Given the description of an element on the screen output the (x, y) to click on. 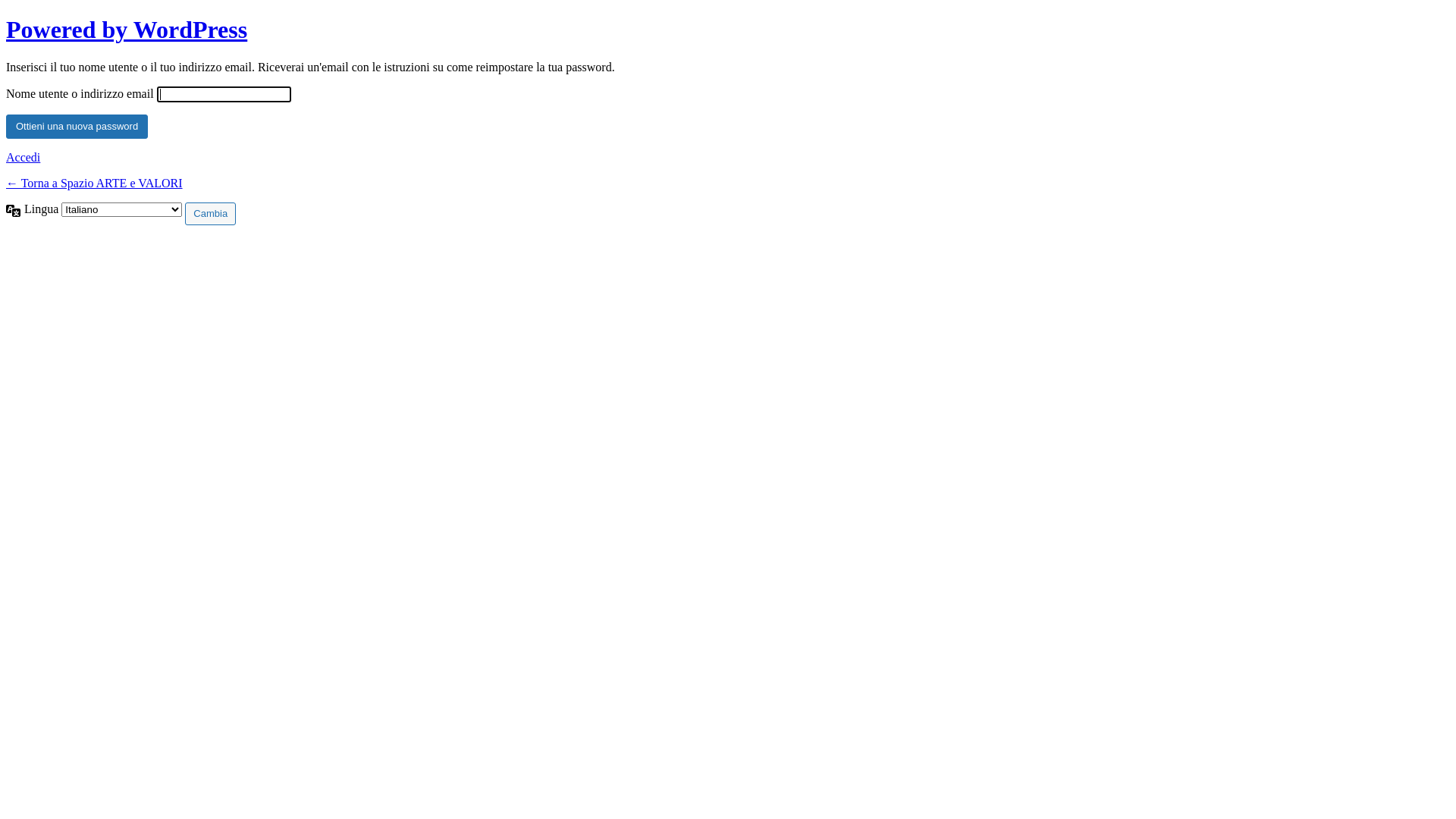
Powered by WordPress Element type: text (126, 29)
Accedi Element type: text (23, 156)
Ottieni una nuova password Element type: text (76, 126)
Cambia Element type: text (210, 213)
